Given the description of an element on the screen output the (x, y) to click on. 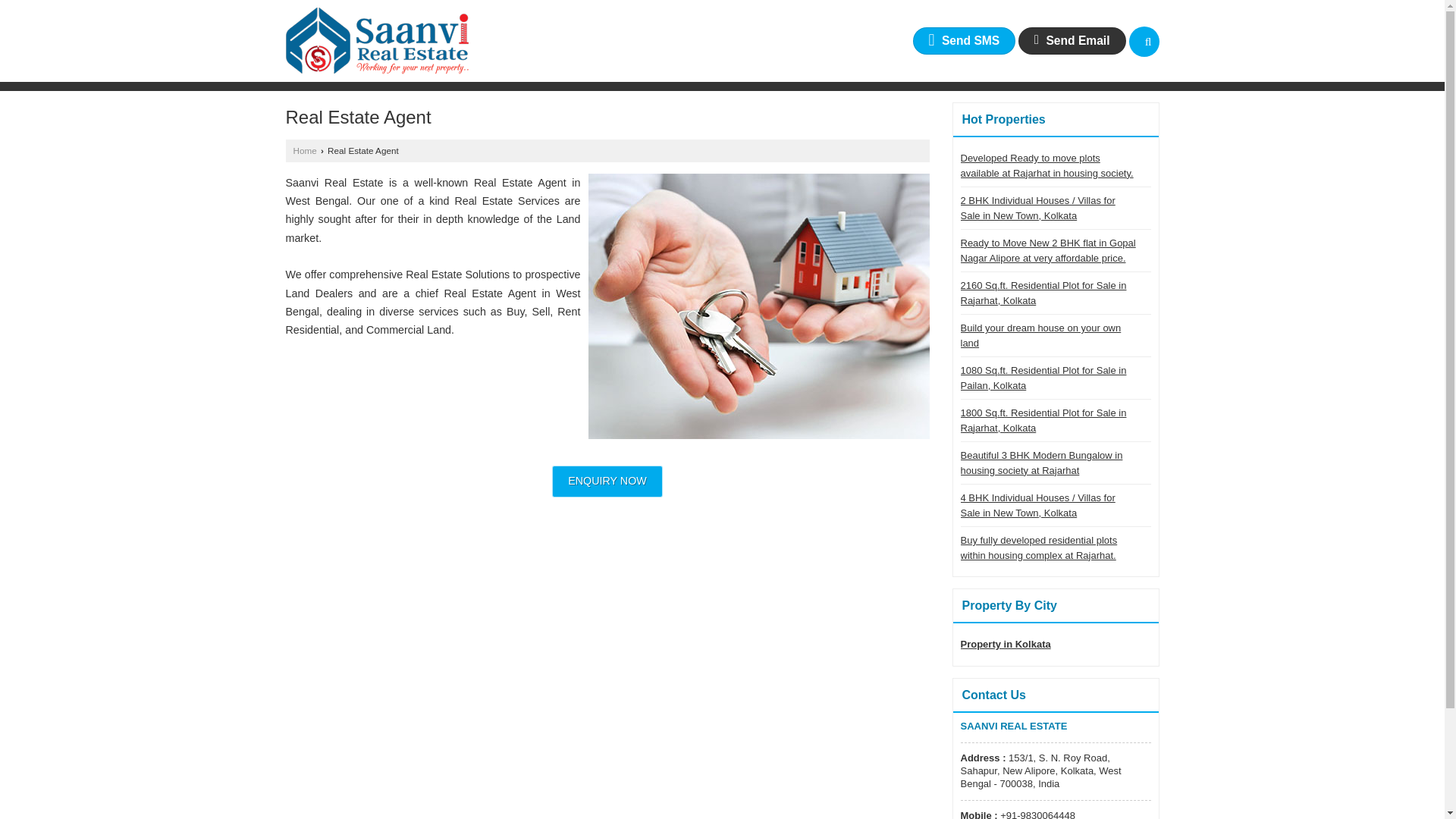
ENQUIRY NOW (606, 481)
Send SMS (964, 40)
Home (303, 150)
Send Email (1071, 40)
Search (1143, 41)
SAANVI REAL ESTATE (376, 40)
